Given the description of an element on the screen output the (x, y) to click on. 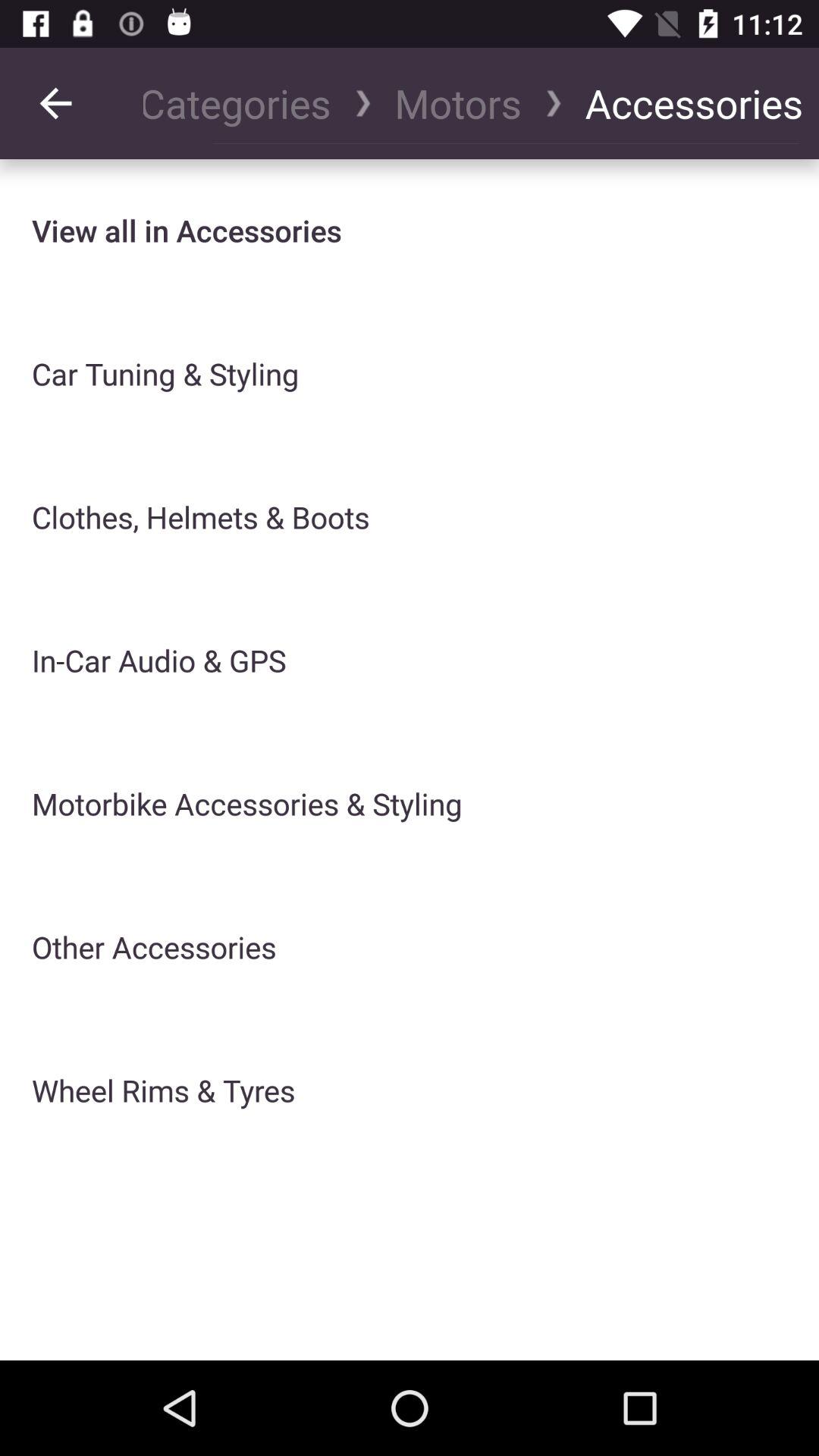
open item above the motorbike accessories & styling item (457, 103)
